Given the description of an element on the screen output the (x, y) to click on. 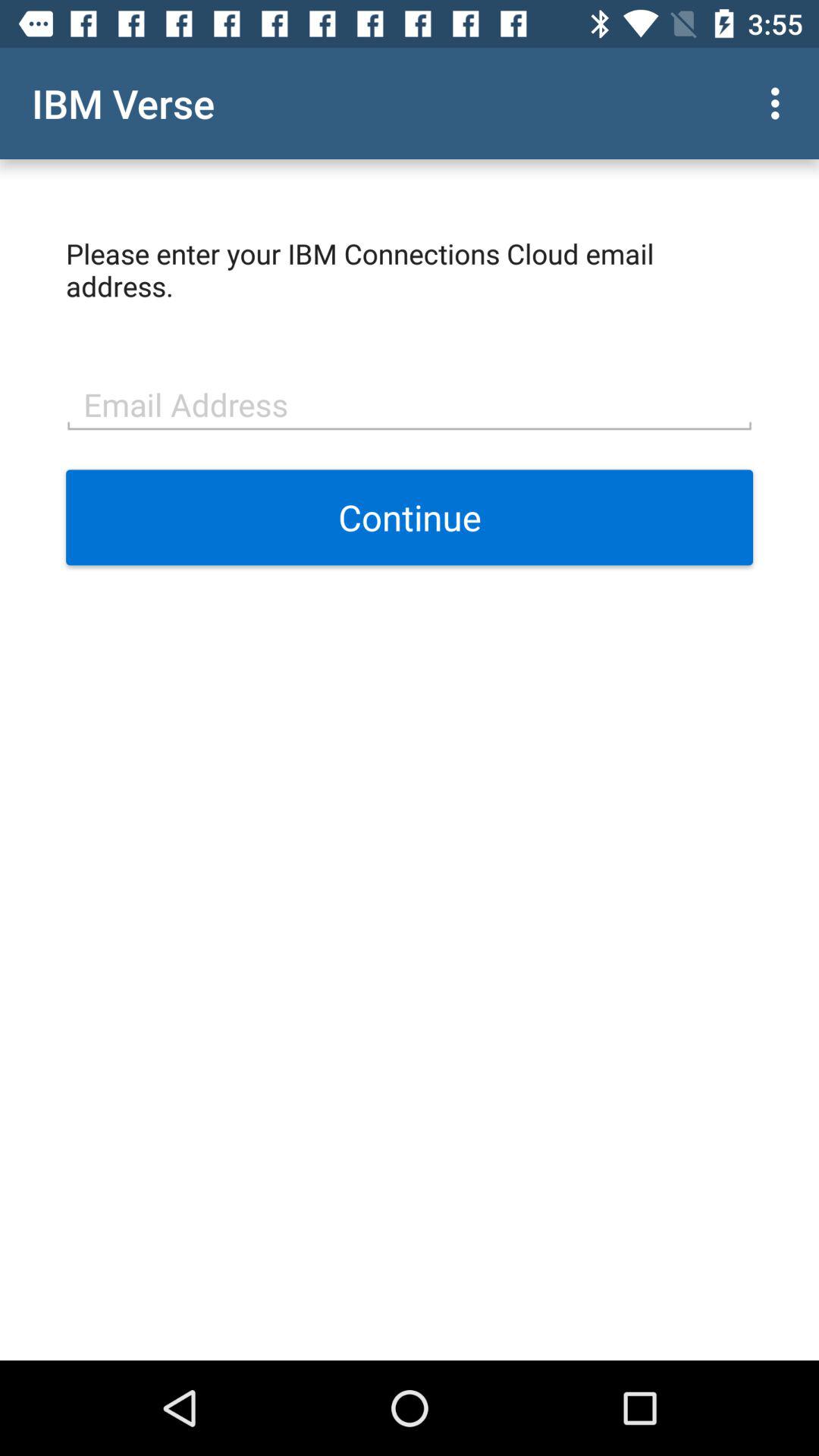
jump to the continue icon (409, 517)
